Given the description of an element on the screen output the (x, y) to click on. 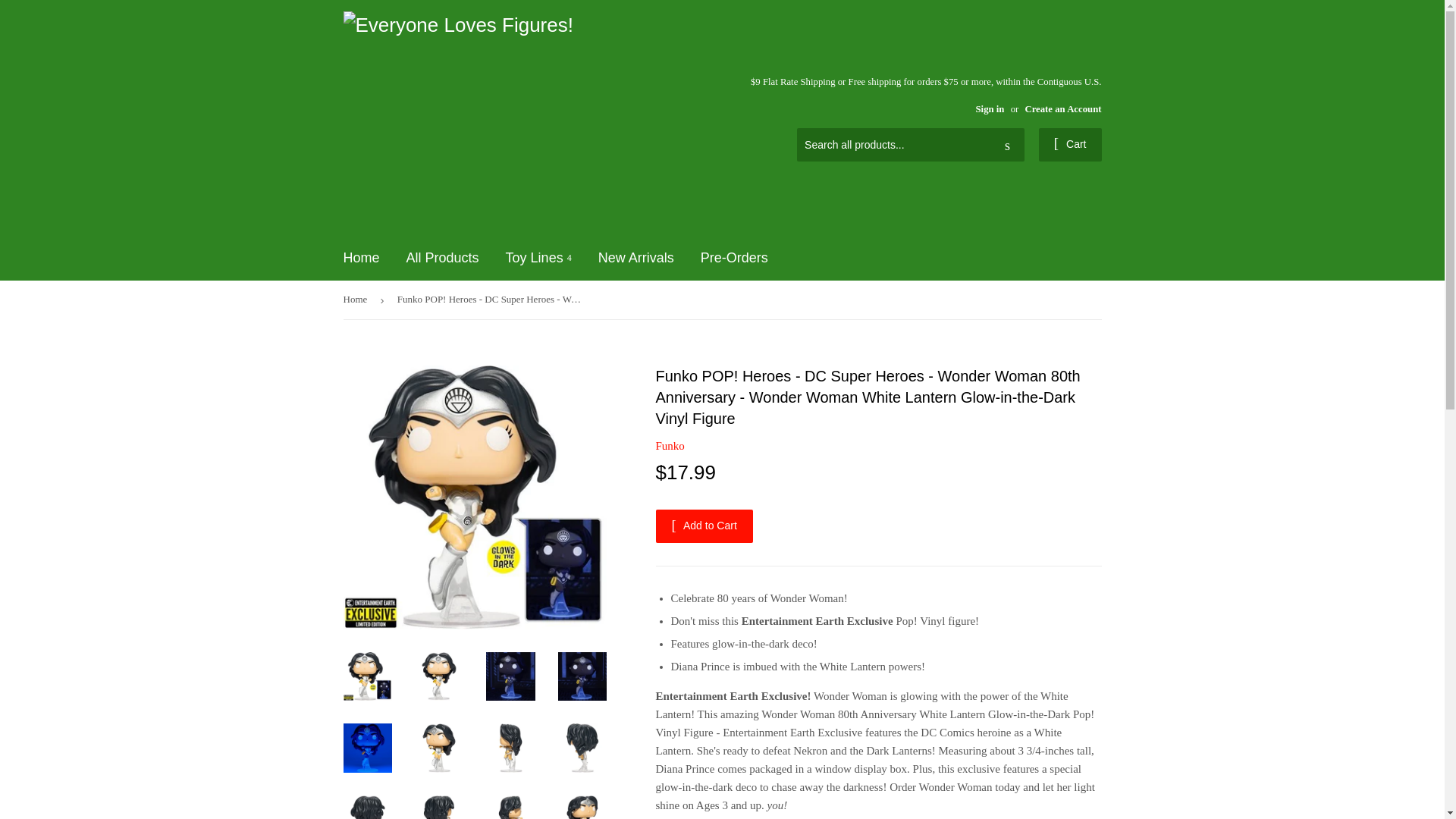
Cart (1070, 144)
All Products (442, 257)
Create an Account (1062, 109)
Search (1007, 145)
Toy Lines (539, 257)
Home (361, 257)
Sign in (989, 109)
Pre-Orders (733, 257)
Funko (669, 445)
New Arrivals (635, 257)
